Given the description of an element on the screen output the (x, y) to click on. 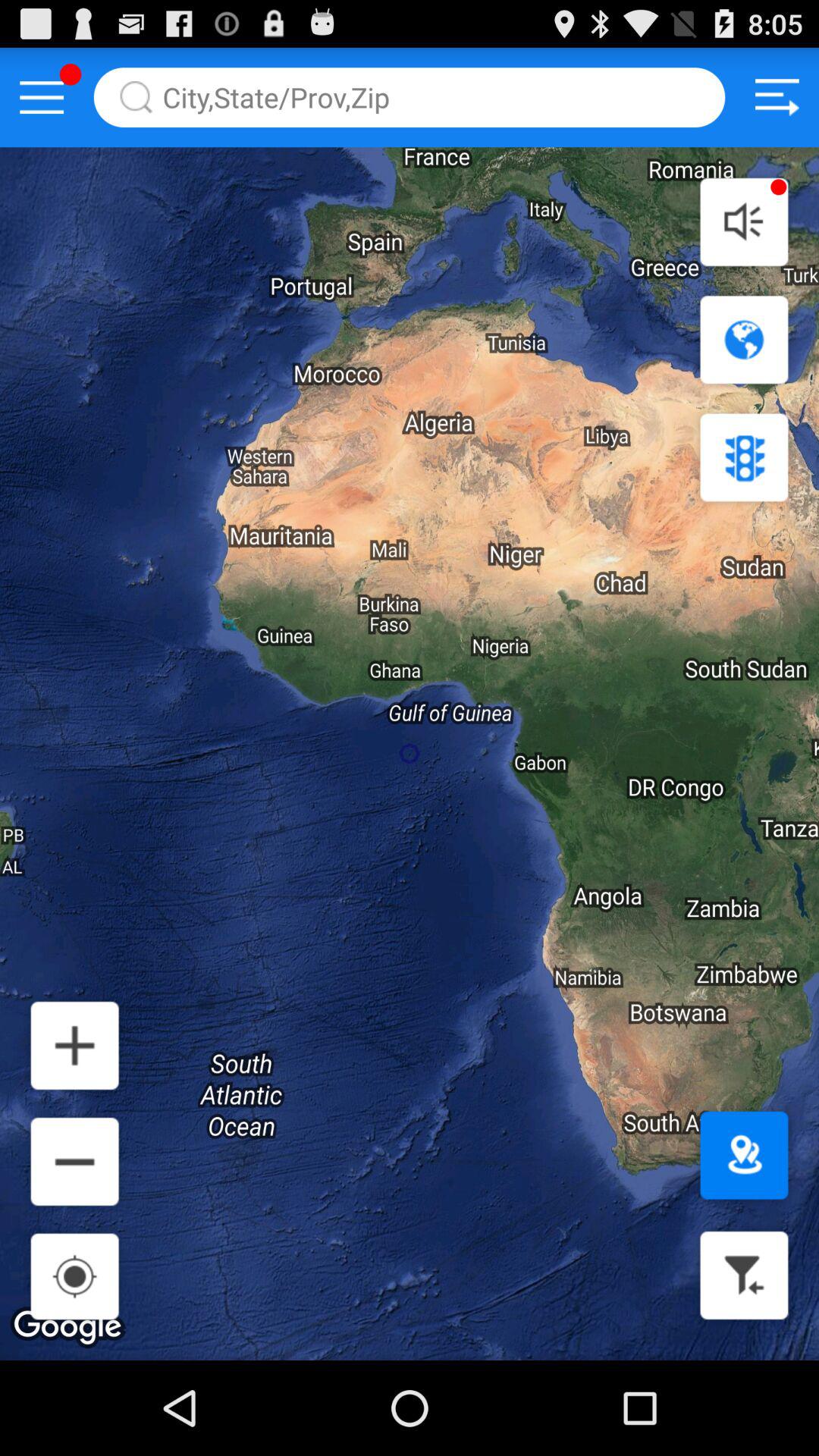
search (409, 97)
